Given the description of an element on the screen output the (x, y) to click on. 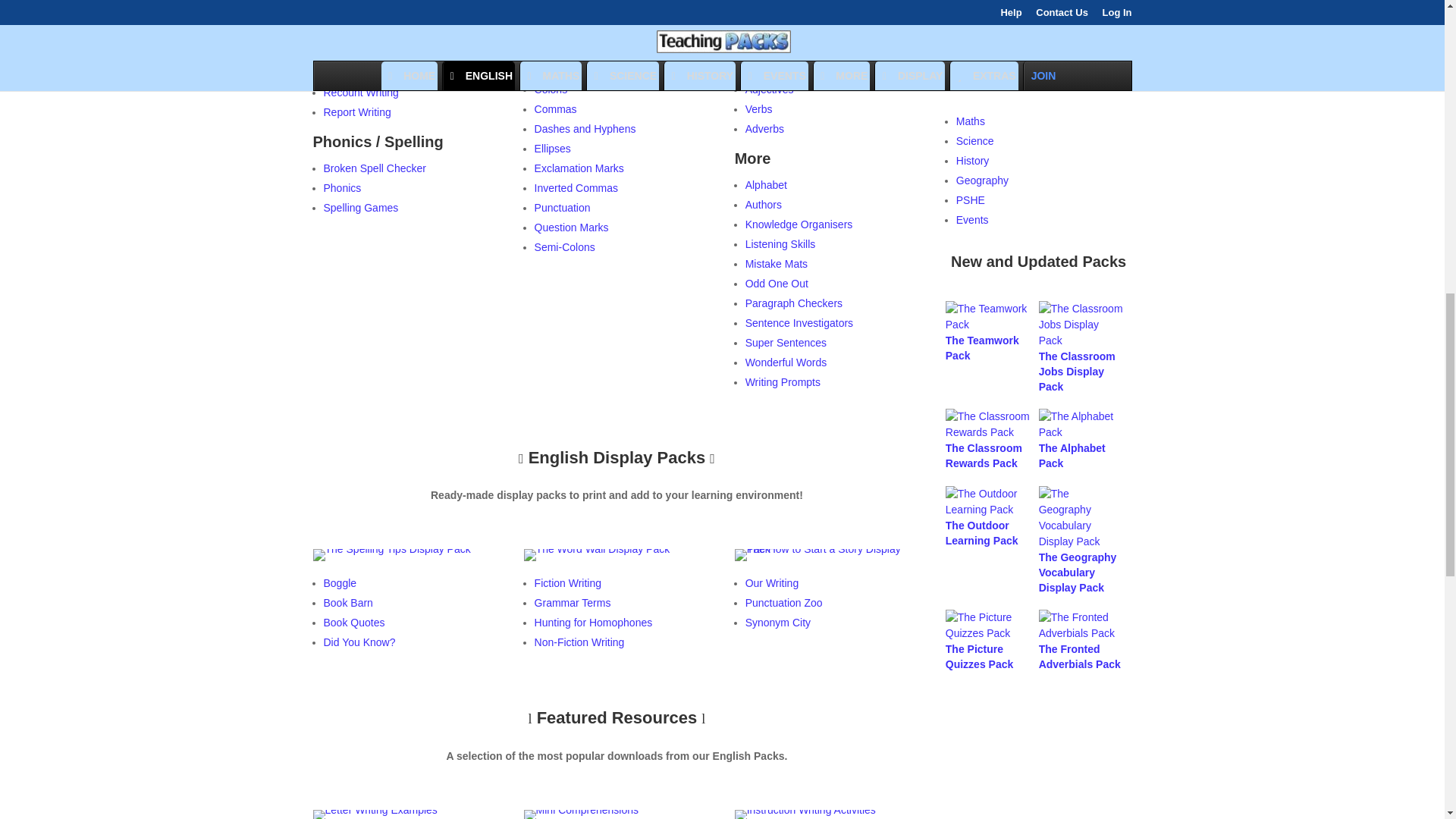
HowtoStartaStoryDisplay-ComingSoon (828, 554)
ComprehensionChallenges-ActivityPreview-MiniComprehensions (581, 809)
WordWallDisplay-ComingSoon (596, 548)
Letters-ActivityPreview-Examples (374, 809)
SpellingTipsDisplay-ComingSoon (391, 554)
InstructionWriting-ActivityPreview-Cards (805, 809)
